Given the description of an element on the screen output the (x, y) to click on. 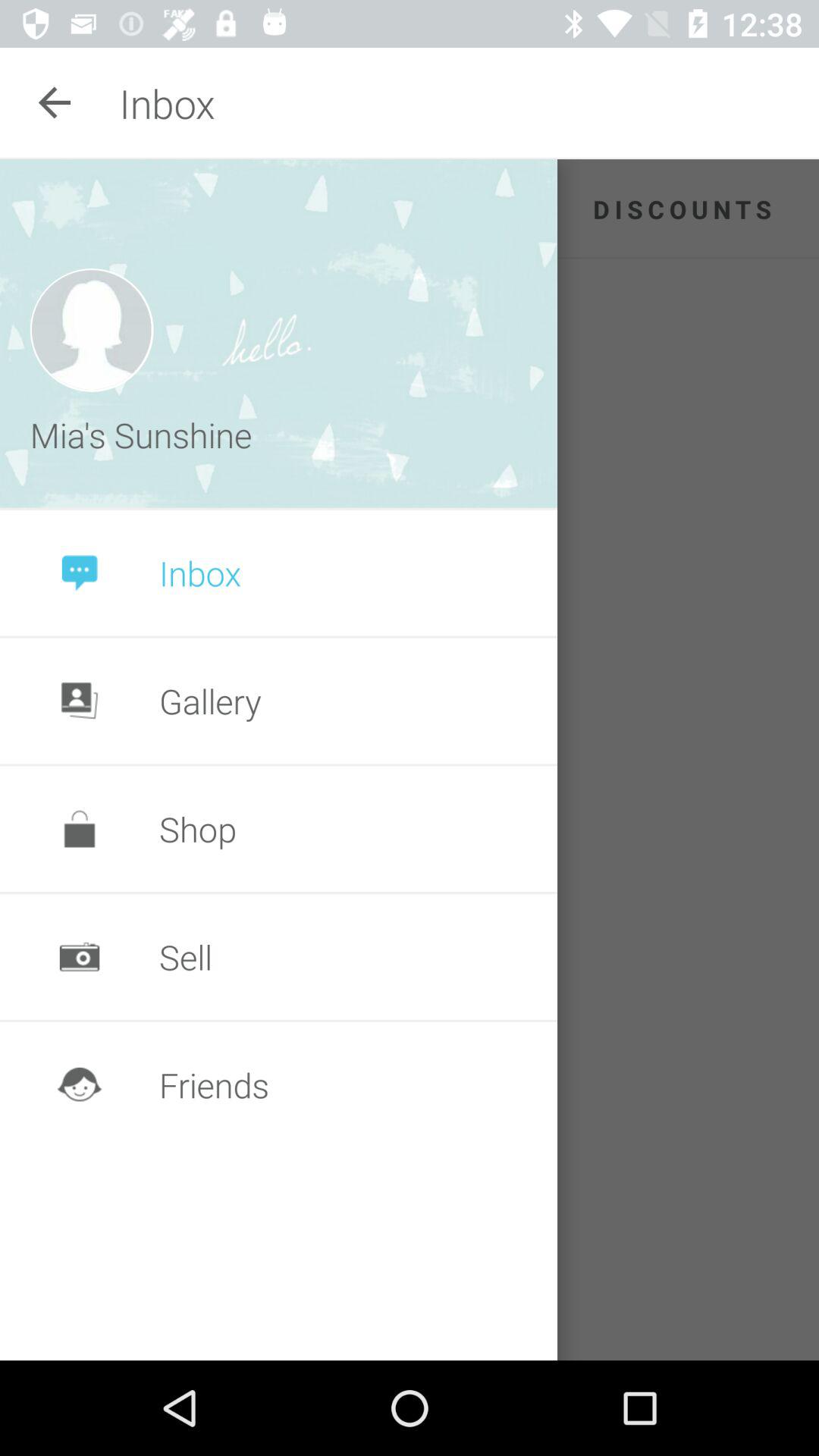
open the gallery item (210, 700)
